Given the description of an element on the screen output the (x, y) to click on. 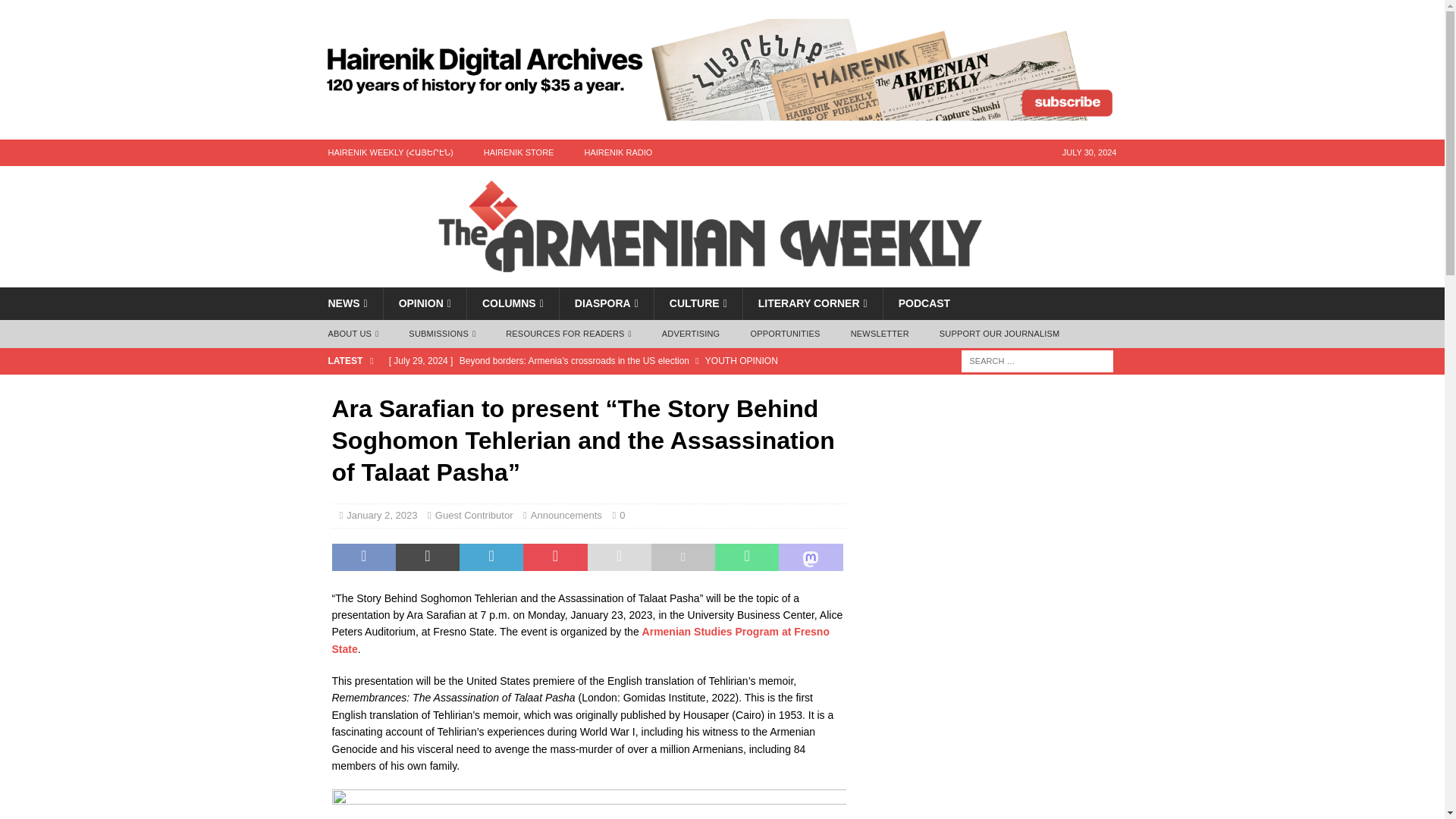
Tweet This Post (428, 556)
The Armenian Weekly (722, 278)
HAIRENIK STORE (518, 152)
DIASPORA (606, 303)
Send this article to a friend (619, 556)
COLUMNS (512, 303)
Print this article (682, 556)
HAIRENIK RADIO (617, 152)
Share on Facebook (363, 556)
Pin This Post (554, 556)
Share on LinkedIn (491, 556)
NEWS (347, 303)
OPINION (423, 303)
